Given the description of an element on the screen output the (x, y) to click on. 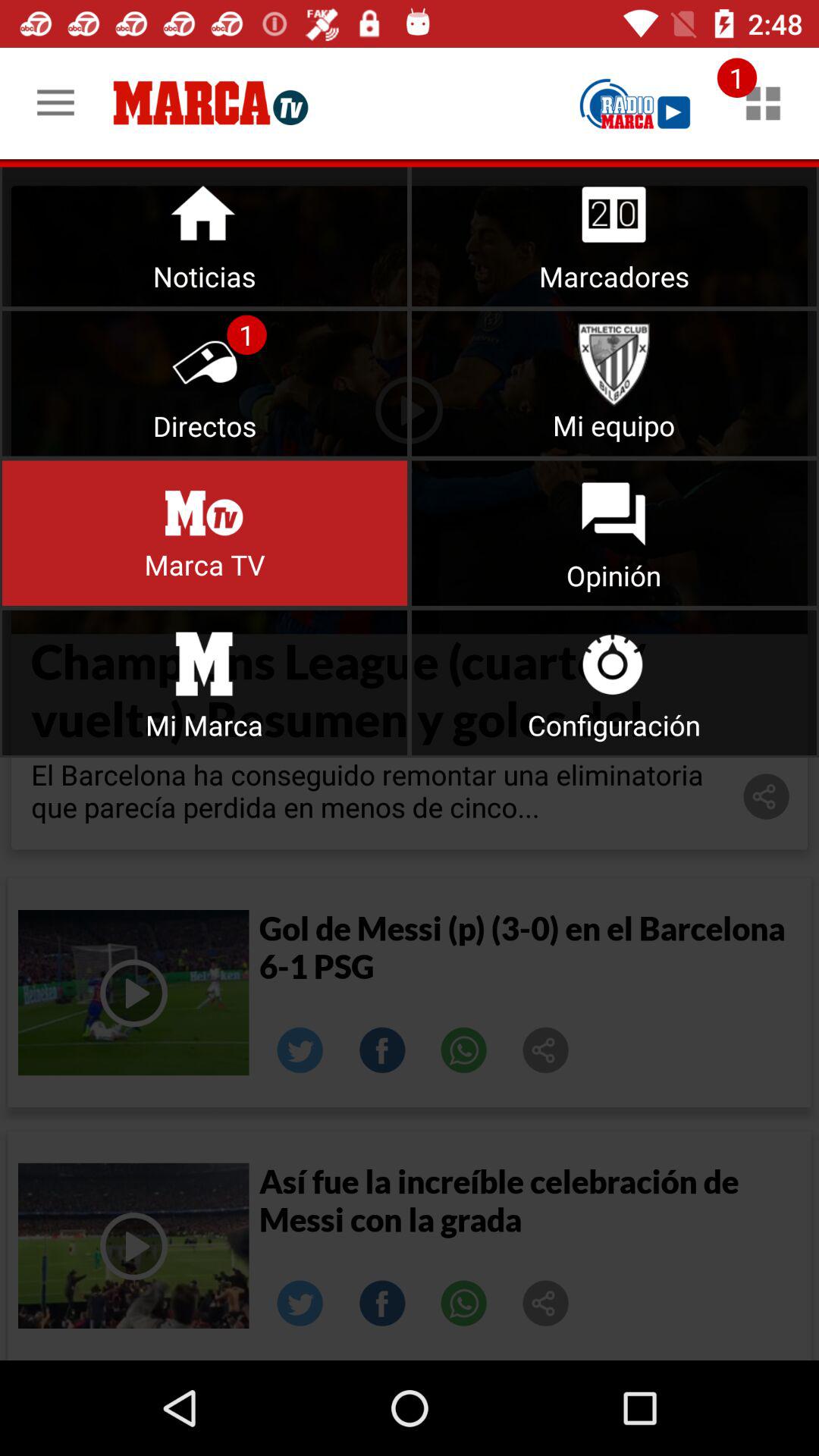
share on whatsapp (464, 1050)
